Given the description of an element on the screen output the (x, y) to click on. 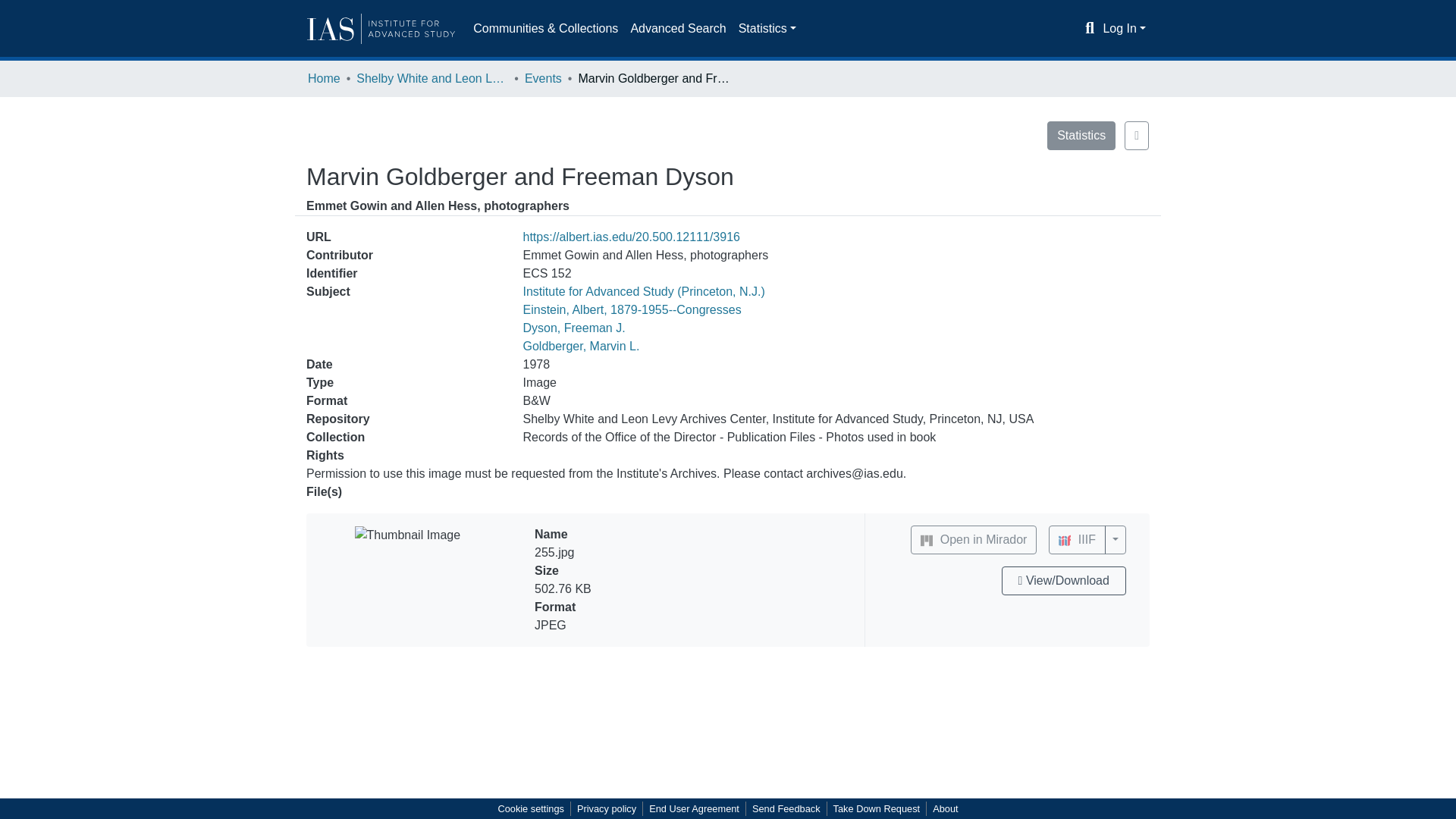
Advanced Search (678, 28)
Dyson, Freeman J. (574, 327)
Send Feedback (786, 808)
About (944, 808)
Log In (1123, 28)
Privacy policy (606, 808)
Home (323, 78)
Search (1090, 28)
Open in Mirador (973, 539)
Einstein, Albert, 1879-1955--Congresses (631, 309)
